Given the description of an element on the screen output the (x, y) to click on. 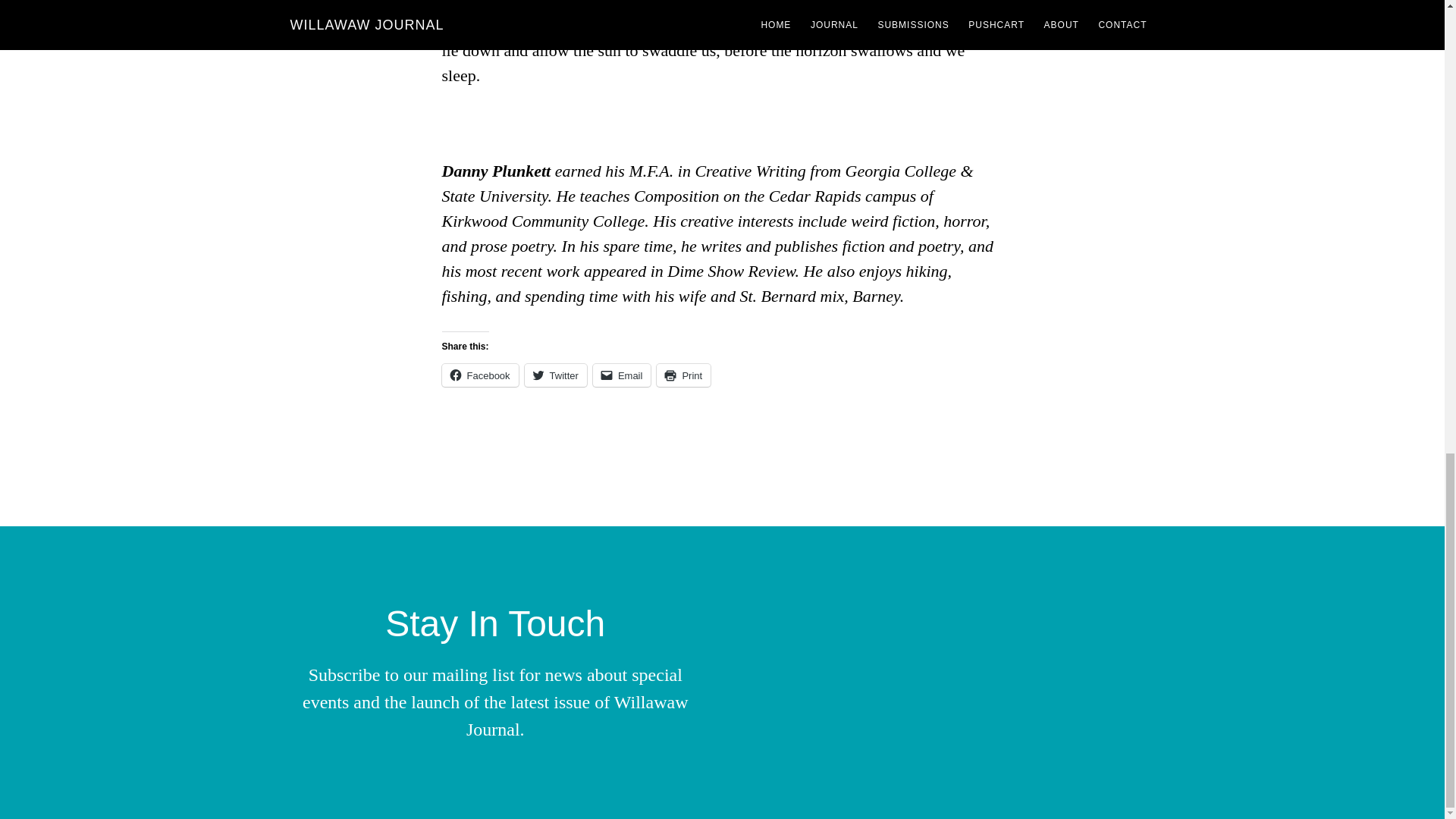
Click to print (683, 374)
Click to share on Twitter (555, 374)
Twitter (555, 374)
Click to email a link to a friend (621, 374)
Click to share on Facebook (479, 374)
Print (683, 374)
Email (621, 374)
Facebook (479, 374)
